Given the description of an element on the screen output the (x, y) to click on. 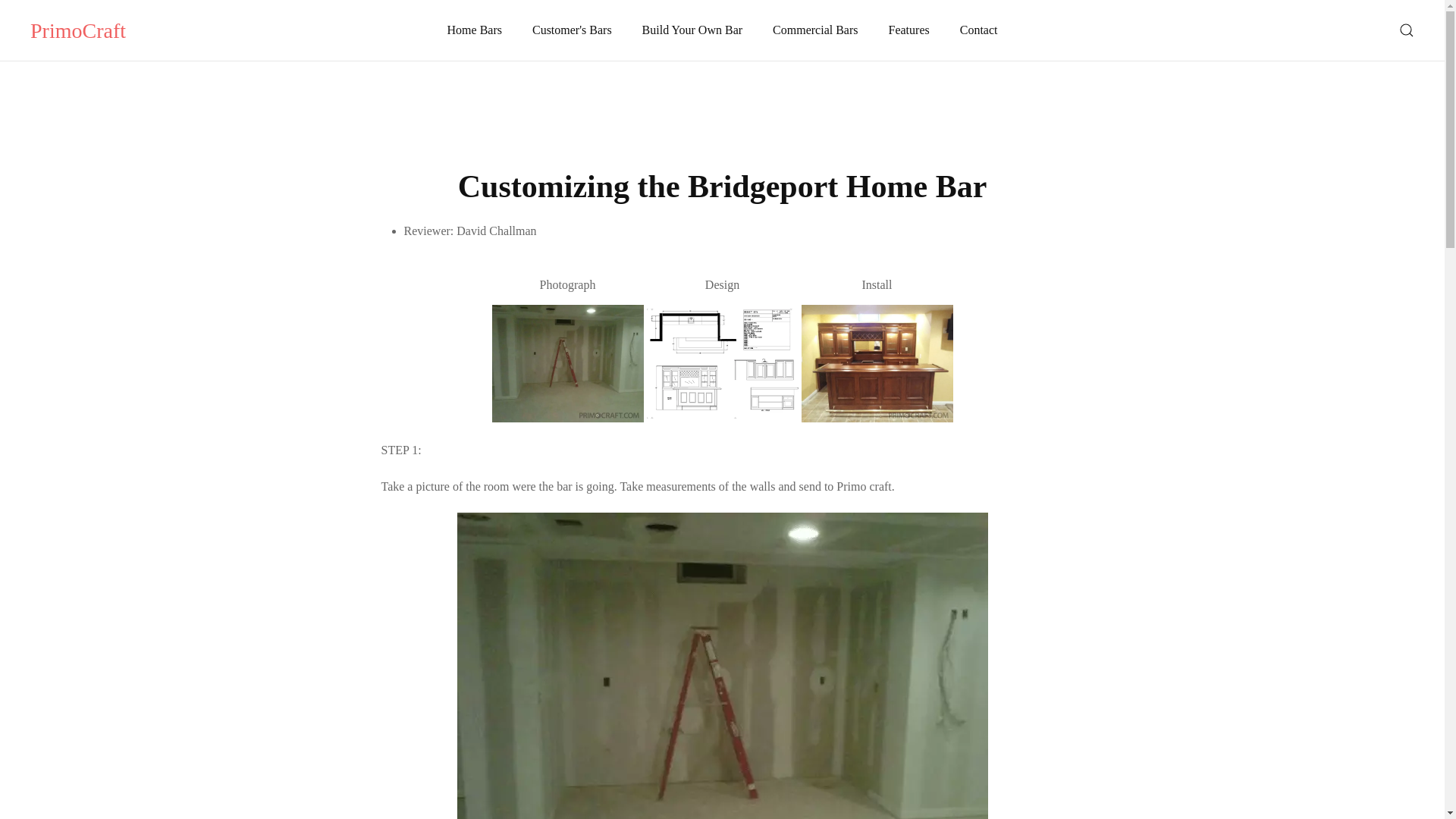
Home Bars (474, 30)
Commercial Bars (815, 30)
Build Your Own Bar (692, 30)
Customer's Bars (571, 30)
PrimoCraft (77, 30)
